Given the description of an element on the screen output the (x, y) to click on. 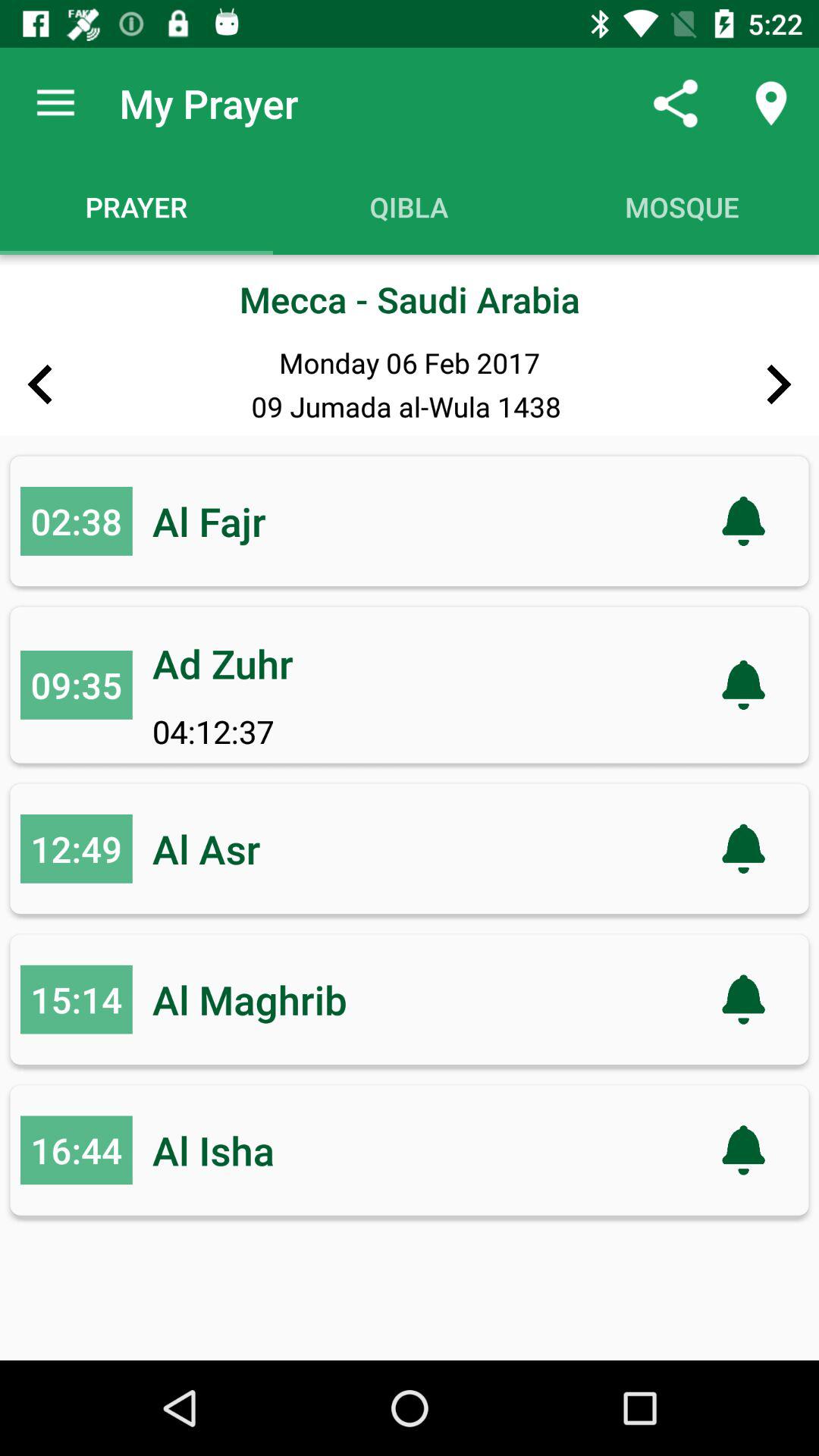
click 09:35 item (76, 684)
